Given the description of an element on the screen output the (x, y) to click on. 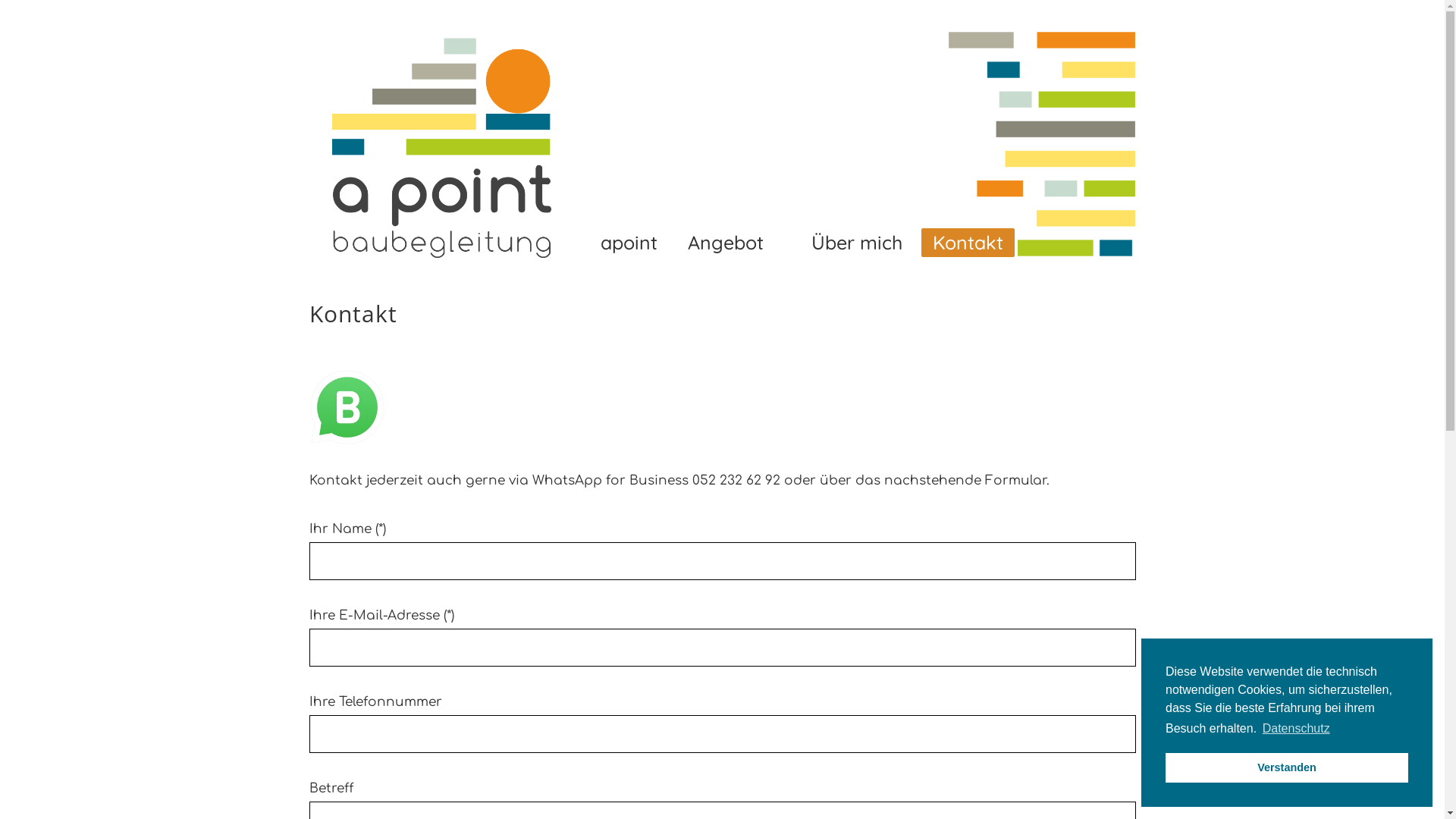
Verstanden Element type: text (1286, 767)
Datenschutz Element type: text (1296, 728)
Kontakt Element type: text (967, 242)
apoint Element type: text (628, 242)
Angebot Element type: text (734, 242)
